Given the description of an element on the screen output the (x, y) to click on. 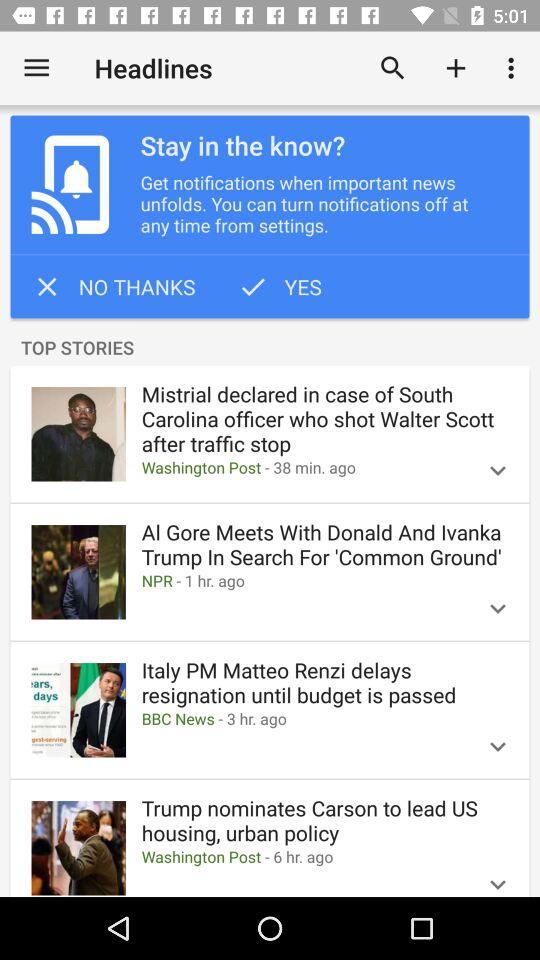
open npr 1 hr (301, 580)
